Given the description of an element on the screen output the (x, y) to click on. 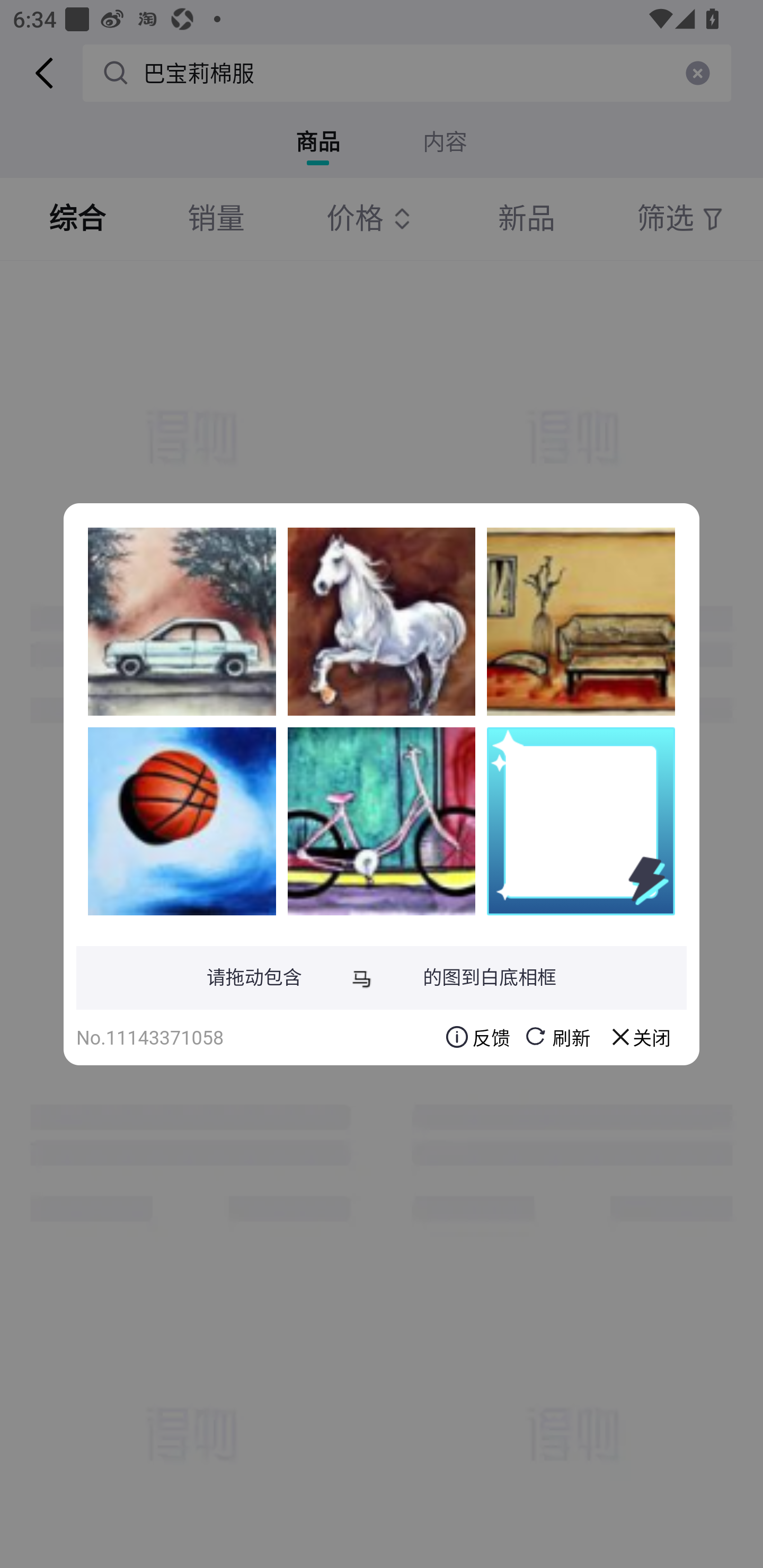
dDrWZ9qjPdkJTvhvaSjzRTrQUidFU4IZWjgOlYk (580, 621)
i6Fc9nJX4cv4PD (381, 820)
